Given the description of an element on the screen output the (x, y) to click on. 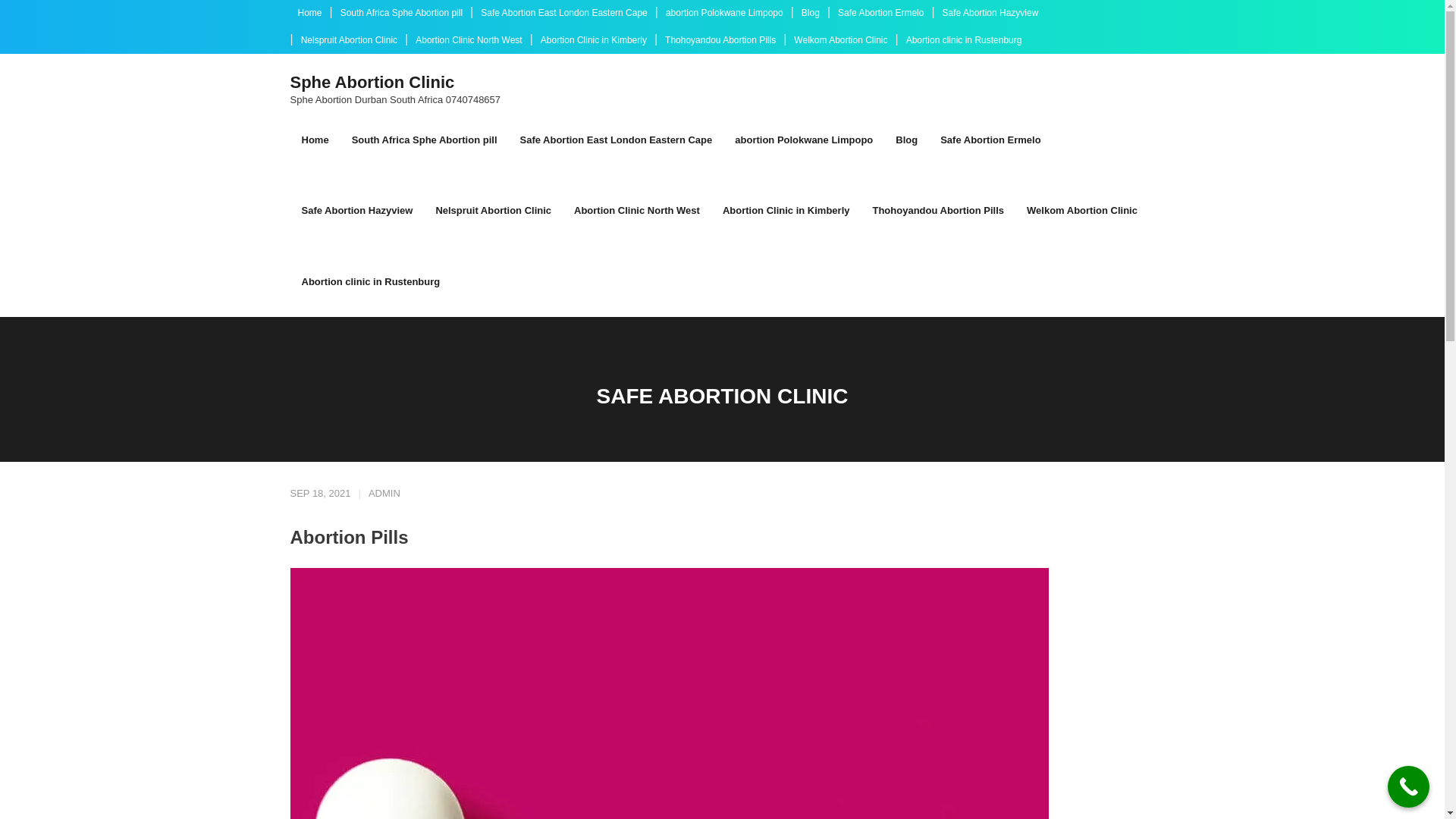
abortion Polokwane Limpopo (803, 139)
Sphe Abortion Clinic (394, 83)
abortion Polokwane Limpopo (724, 13)
Safe Abortion Hazyview (990, 13)
Sphe Abortion Durban South Africa 0740748657 (394, 99)
Abortion Clinic in Kimberly (786, 210)
South Africa Sphe Abortion pill (424, 139)
Thohoyandou Abortion Pills (720, 40)
Safe Abortion Hazyview (356, 210)
